Given the description of an element on the screen output the (x, y) to click on. 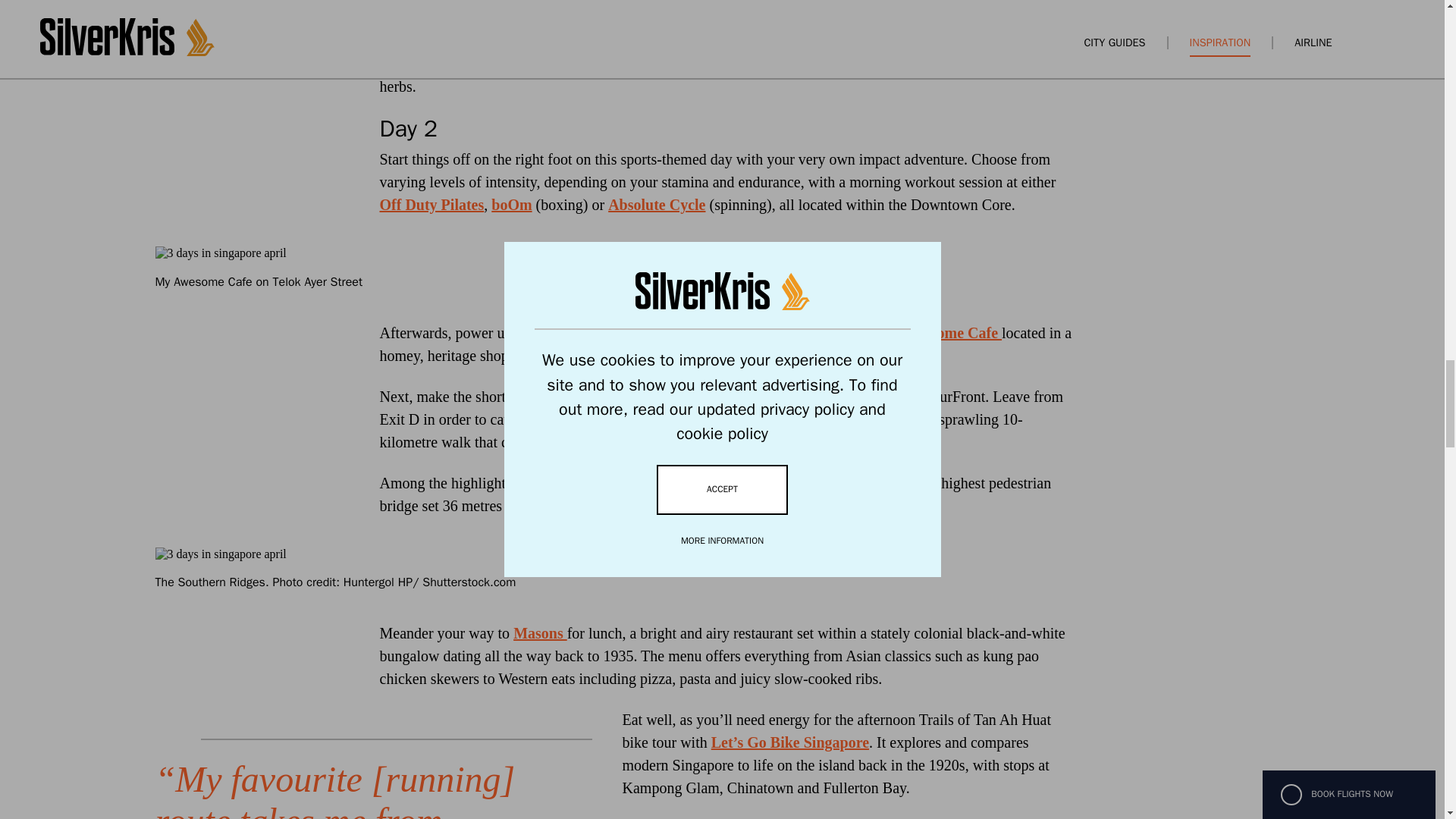
boOm (511, 204)
SLING (1021, 17)
Absolute Cycle (656, 204)
My Awesome Cafe (940, 332)
Off Duty Pilates (430, 204)
Masons (540, 632)
